Given the description of an element on the screen output the (x, y) to click on. 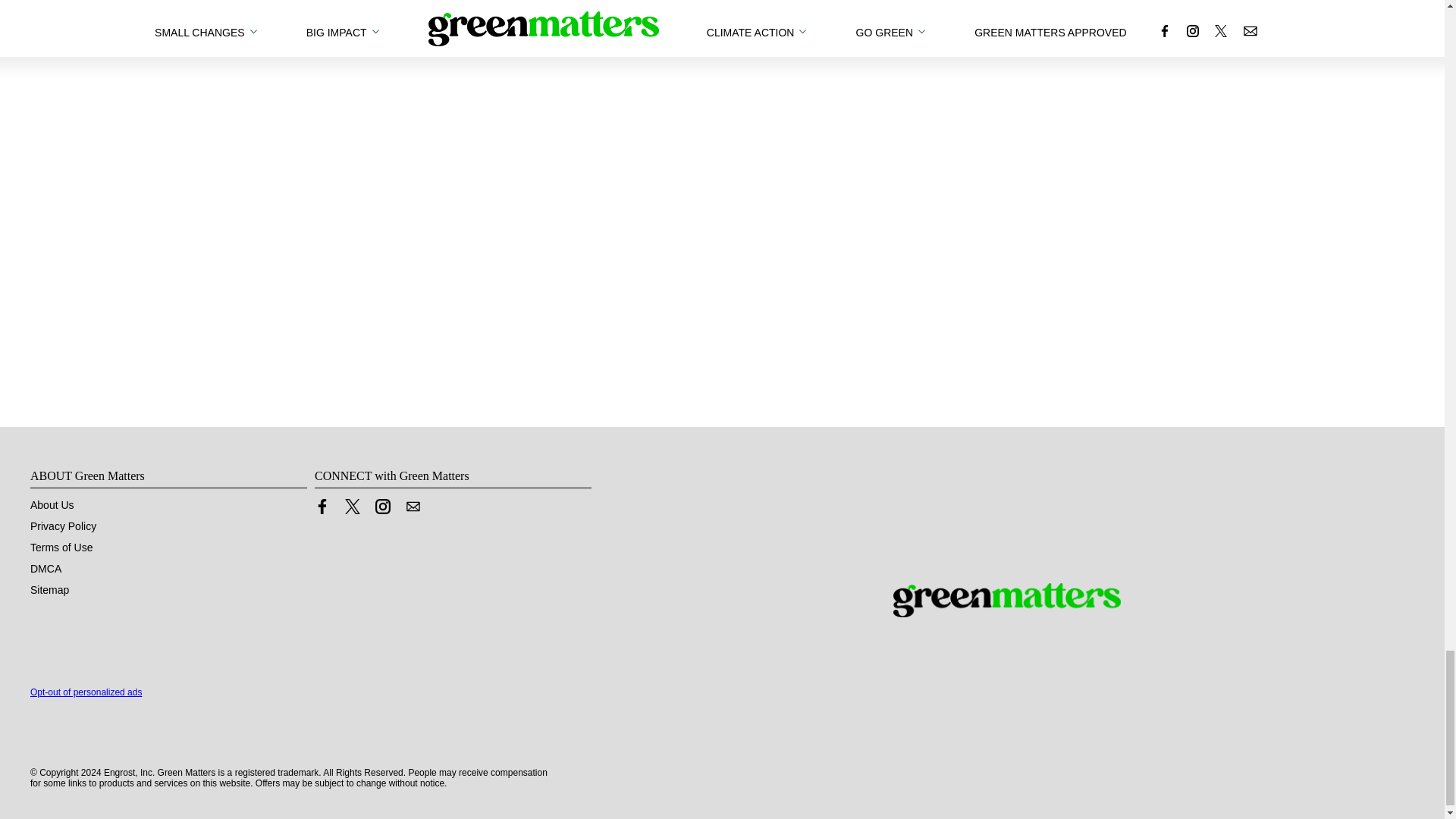
Link to X (352, 506)
Link to Instagram (382, 506)
Sitemap (49, 589)
DMCA (45, 568)
Privacy Policy (63, 526)
About Us (52, 504)
Link to Facebook (322, 506)
Contact us by Email (413, 506)
Terms of Use (61, 547)
